Given the description of an element on the screen output the (x, y) to click on. 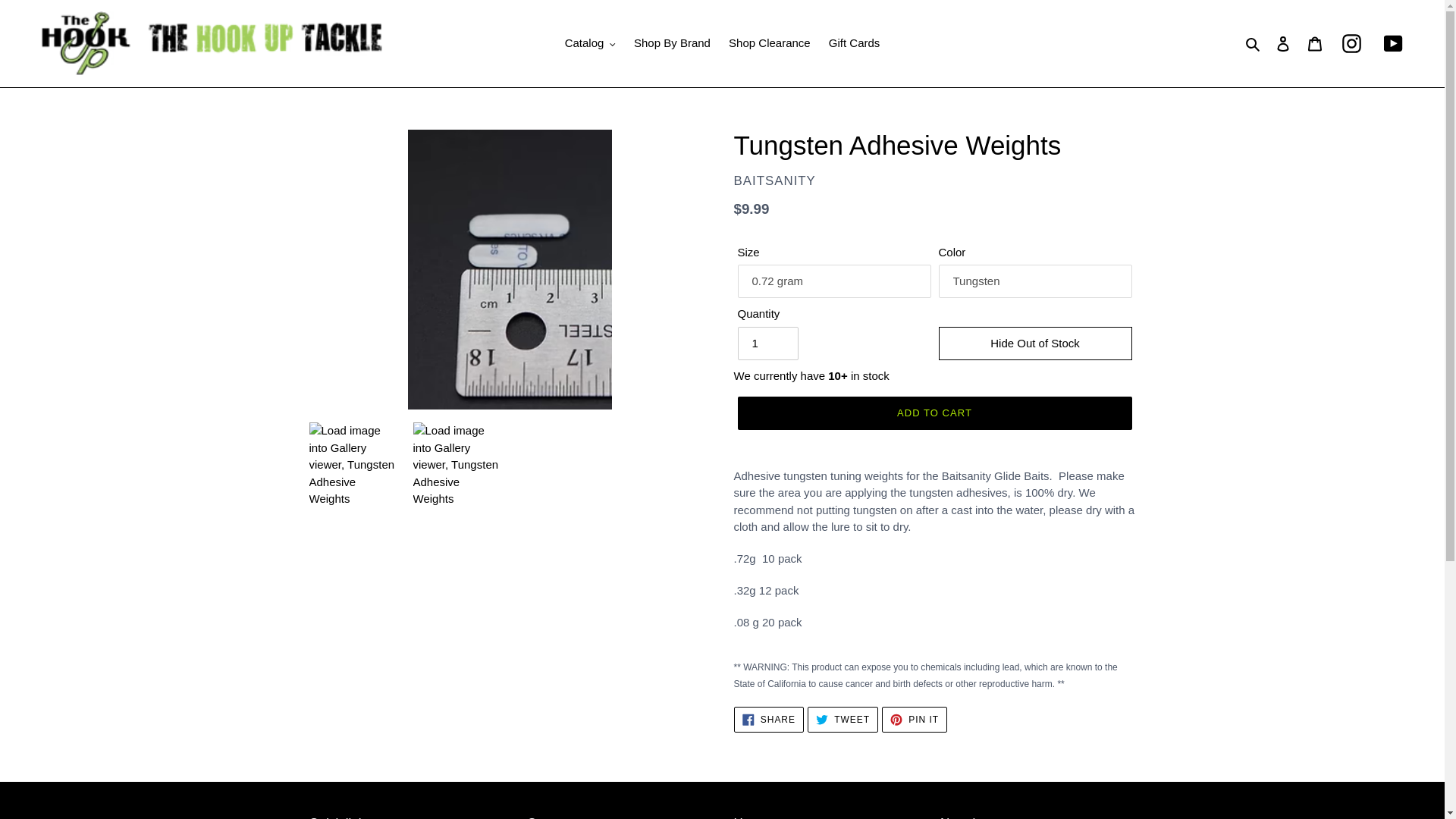
Shop Clearance (769, 43)
Shop By Brand (671, 43)
YouTube (1393, 43)
Instagram (1351, 43)
Log in (1282, 43)
Cart (1314, 43)
Catalog (590, 43)
Gift Cards (854, 43)
1 (766, 343)
Search (1253, 43)
